Given the description of an element on the screen output the (x, y) to click on. 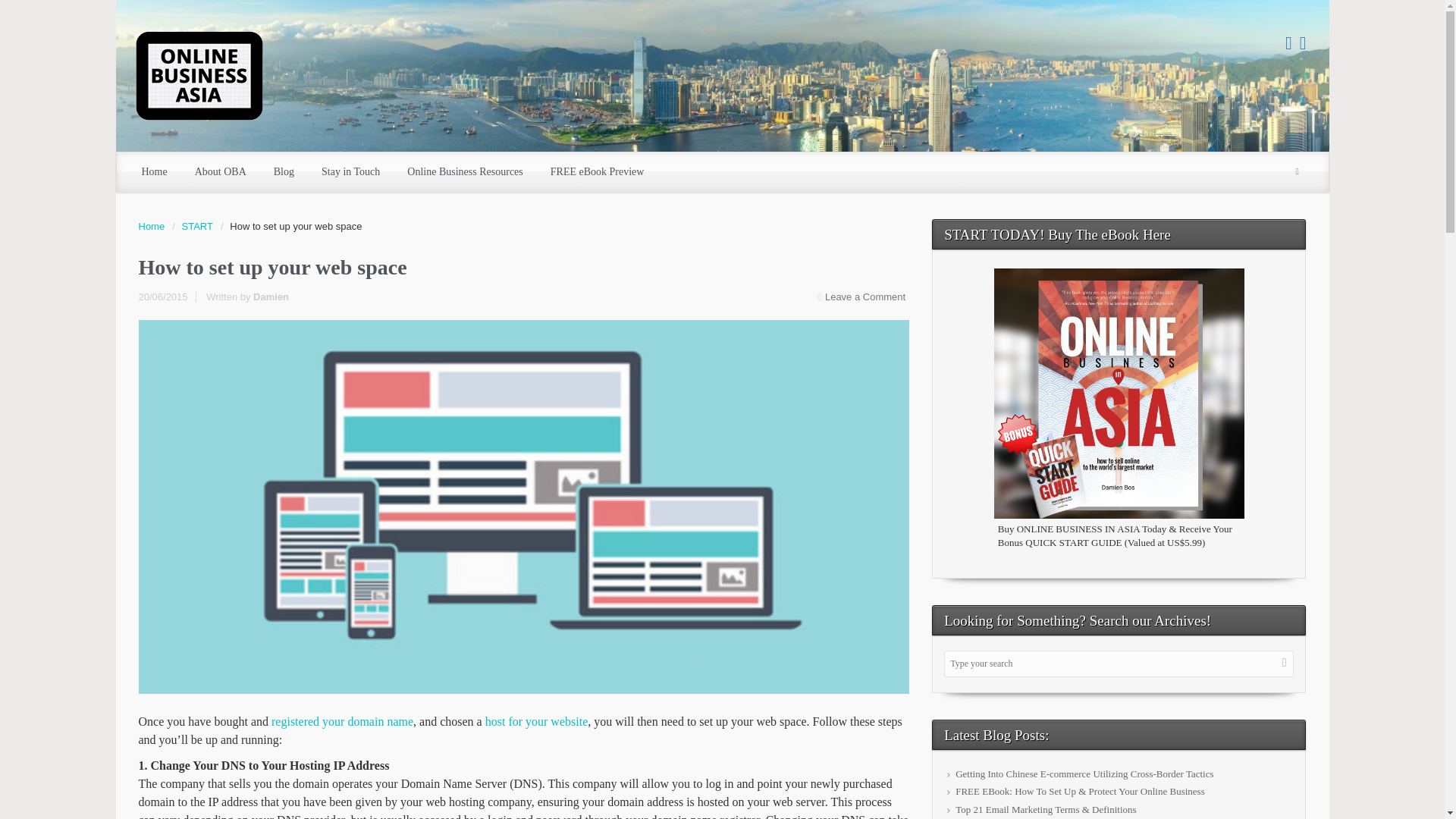
Home (153, 171)
Stay in Touch (350, 171)
Home (153, 171)
Blog (283, 171)
registered your domain name (341, 721)
FREE eBook Preview (597, 171)
View all posts by Damien (270, 296)
Online Business Resources (463, 171)
Stay in Touch (350, 171)
Online Business Resources (463, 171)
Damien (270, 296)
FREE eBook Preview (597, 171)
START (201, 225)
Blog (283, 171)
About OBA (220, 171)
